Given the description of an element on the screen output the (x, y) to click on. 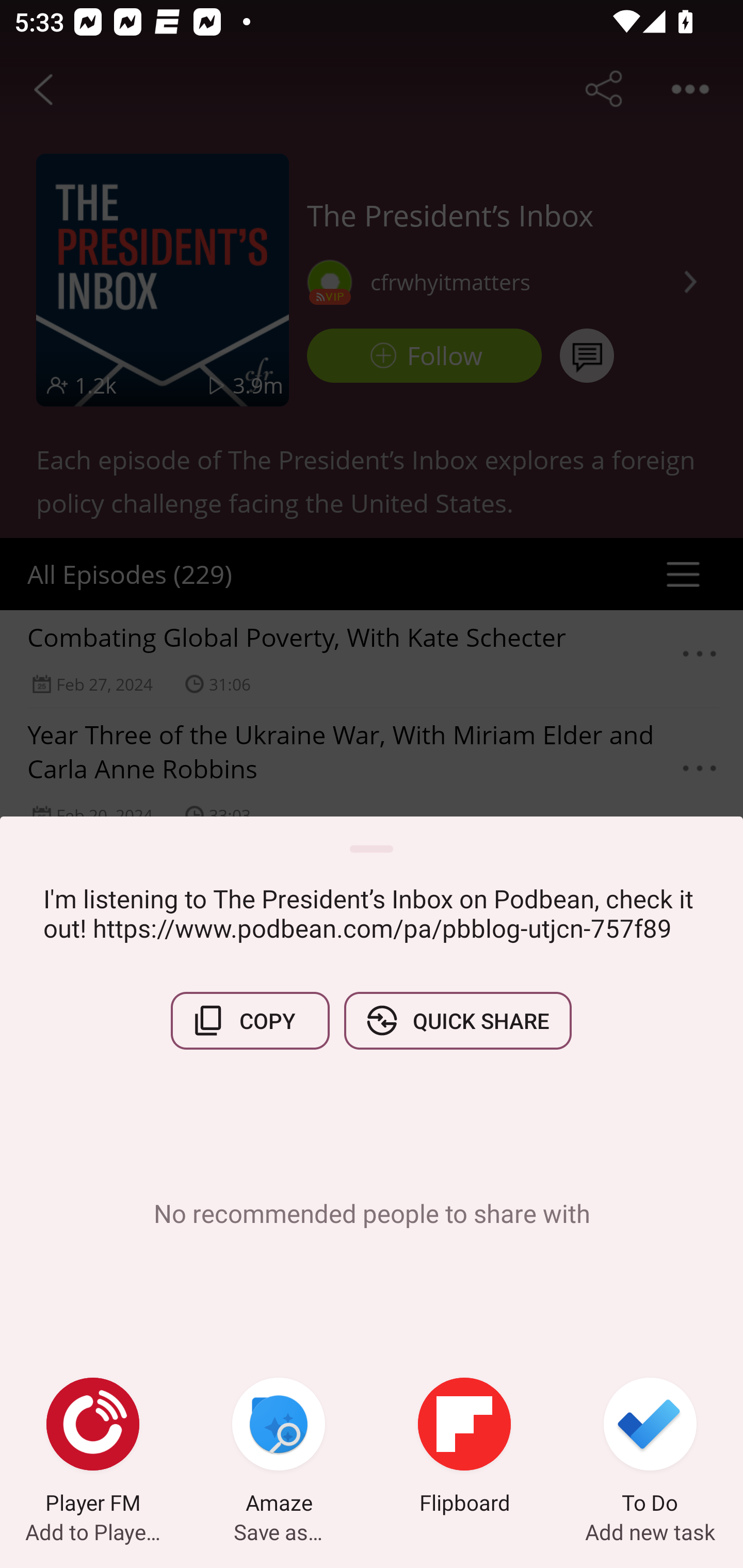
COPY (249, 1020)
QUICK SHARE (457, 1020)
Player FM Add to Player FM (92, 1448)
Amaze Save as… (278, 1448)
Flipboard (464, 1448)
To Do Add new task (650, 1448)
